Given the description of an element on the screen output the (x, y) to click on. 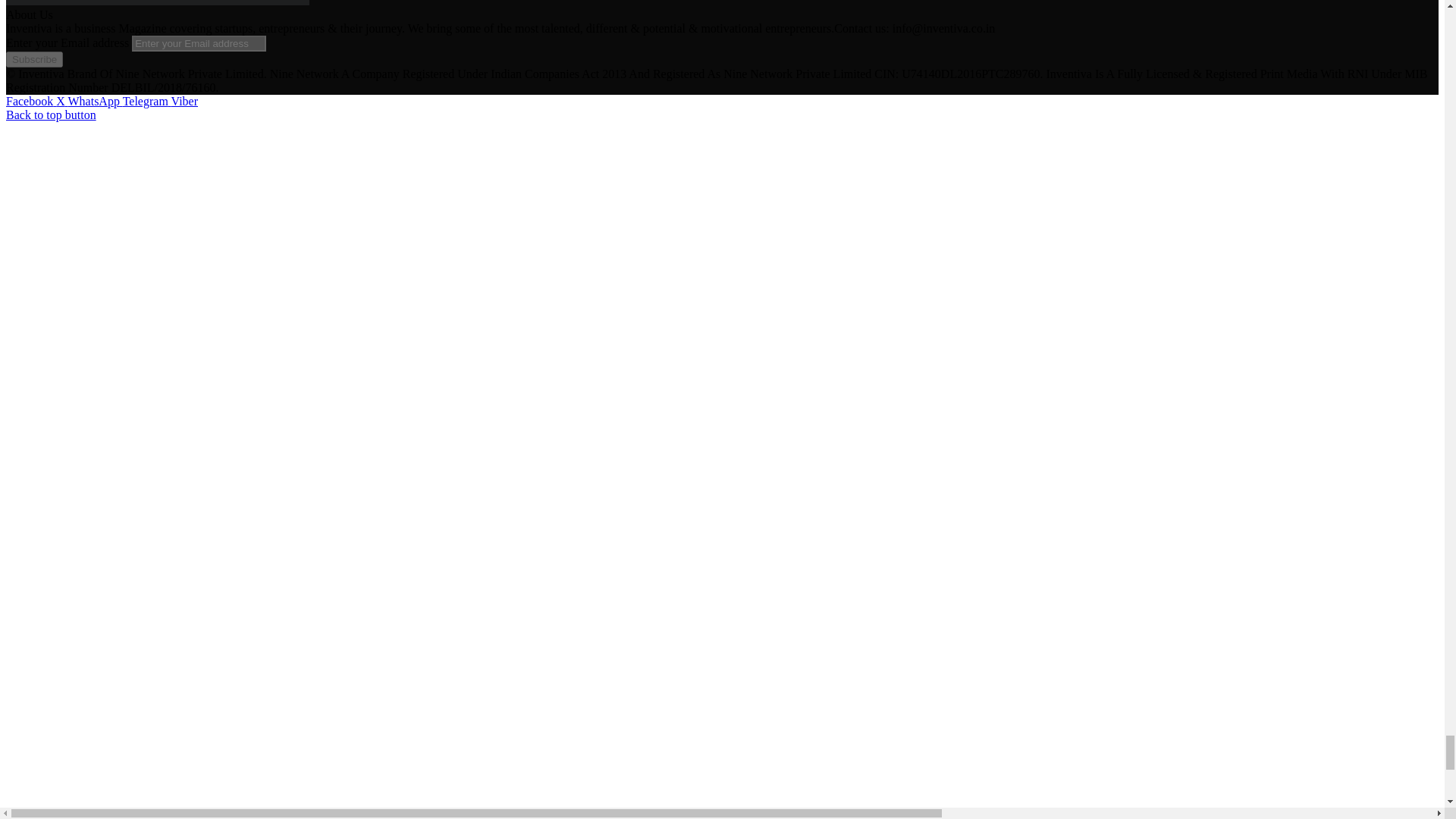
Subscribe (33, 59)
